Given the description of an element on the screen output the (x, y) to click on. 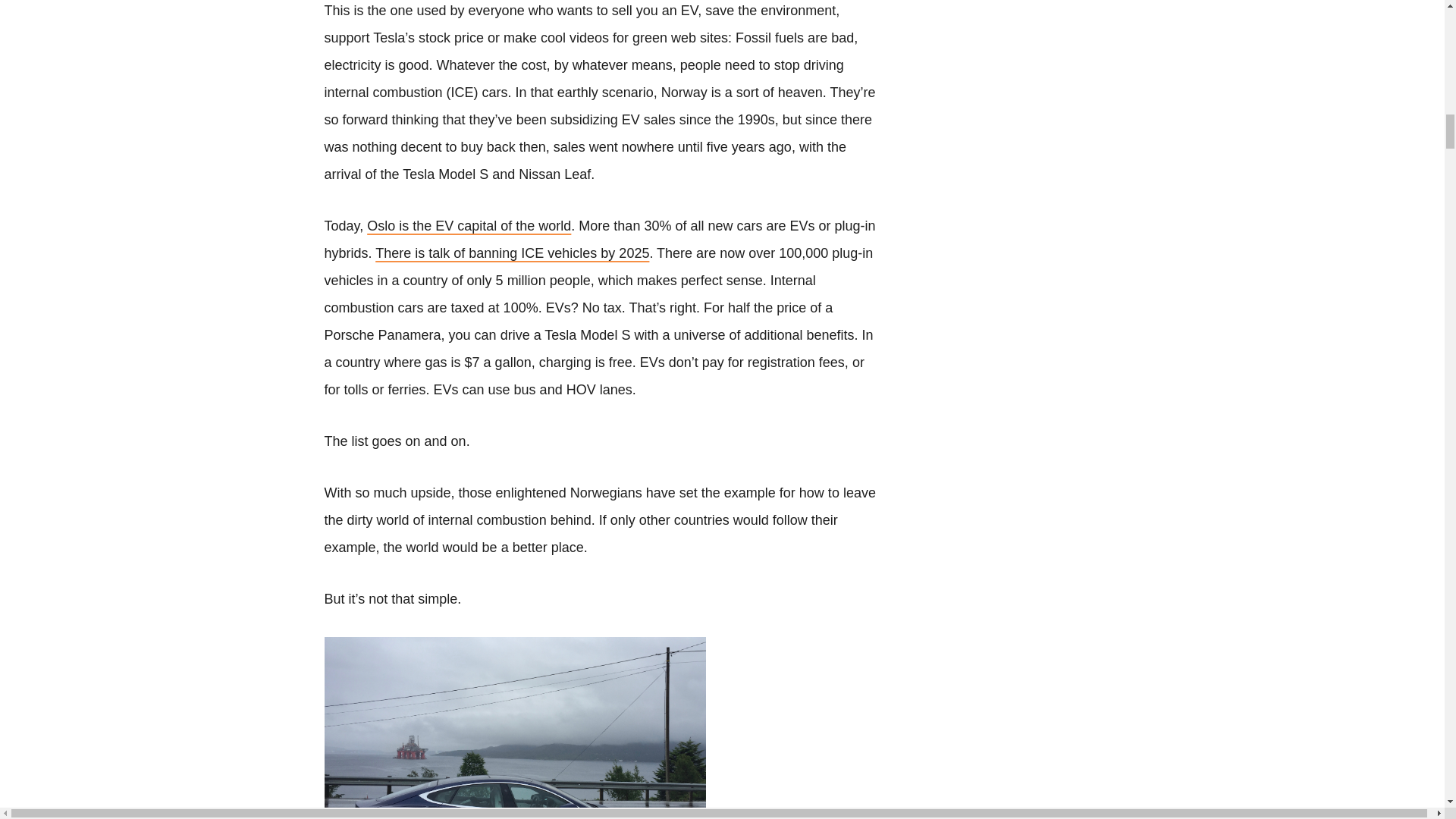
3rd party ad content (1165, 74)
